Given the description of an element on the screen output the (x, y) to click on. 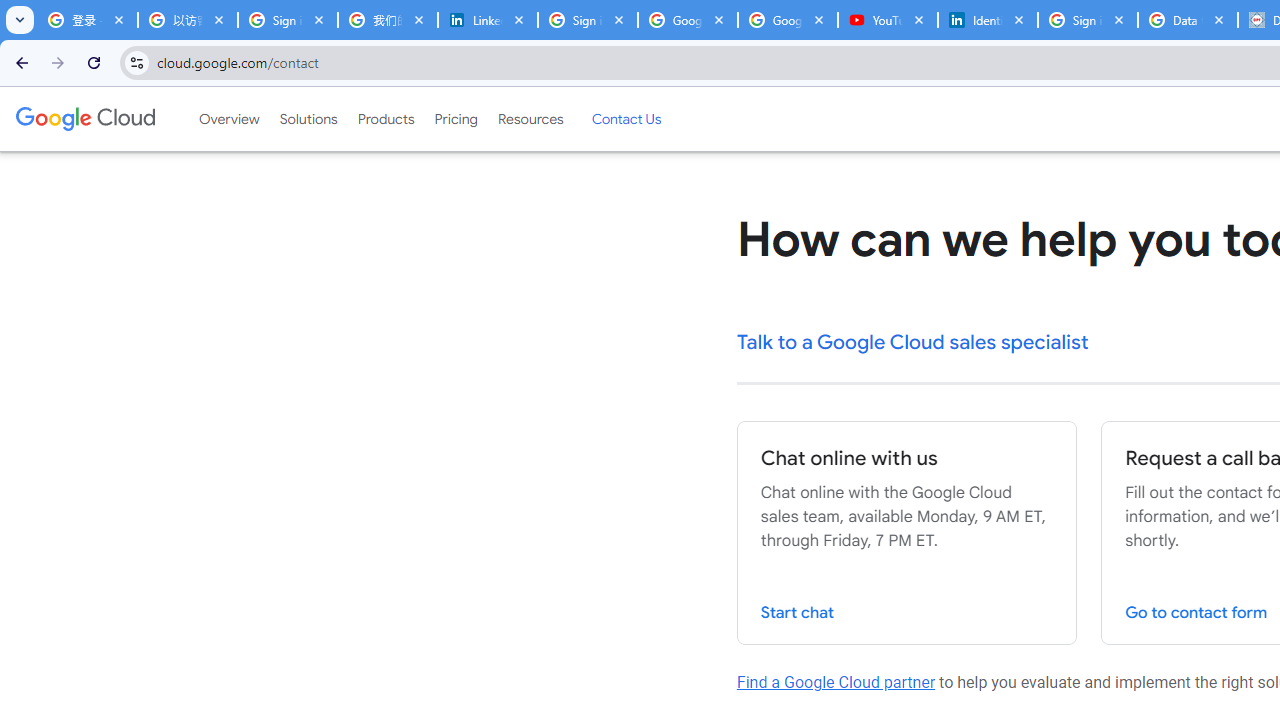
Find a Google Cloud partner (835, 682)
Solutions (308, 119)
Sign in - Google Accounts (287, 20)
